Given the description of an element on the screen output the (x, y) to click on. 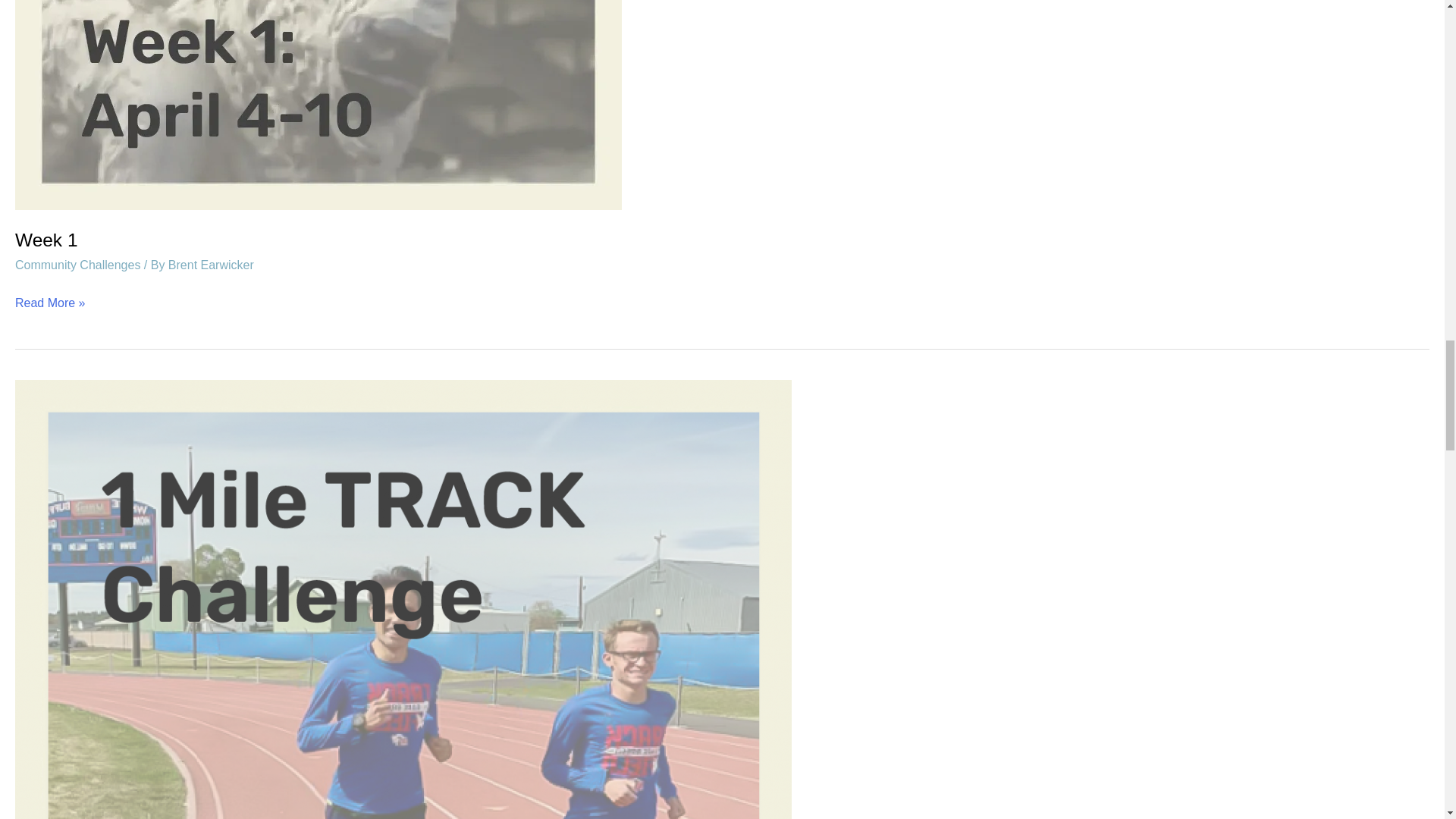
Brent Earwicker (210, 264)
Community Challenges (76, 264)
View all posts by Brent Earwicker (210, 264)
Week 1 (46, 240)
